Given the description of an element on the screen output the (x, y) to click on. 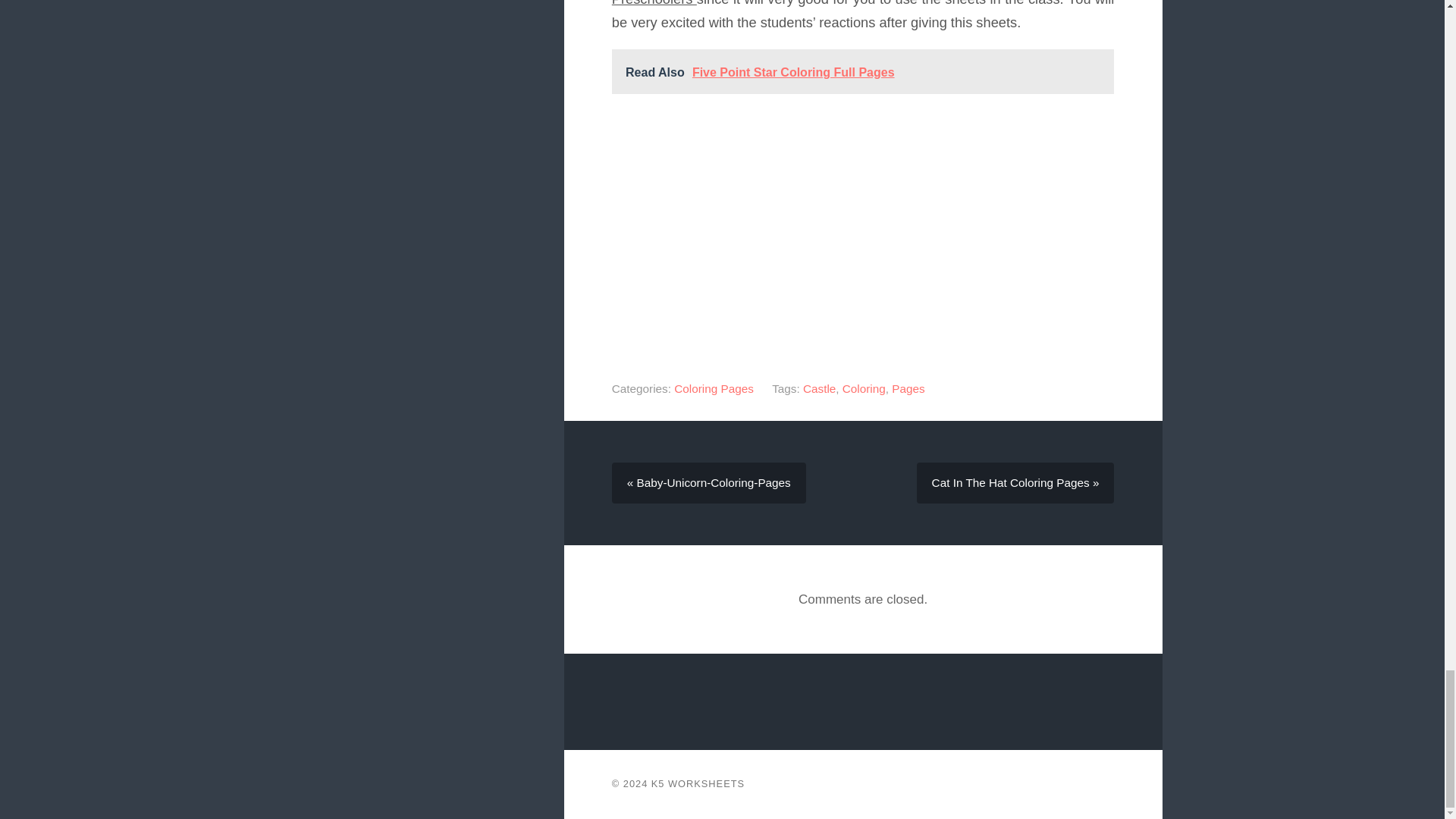
Next post: Cat In The Hat Coloring Pages (1016, 482)
Previous post: Baby-Unicorn-Coloring-Pages (708, 482)
K5 Worksheets (697, 783)
